Given the description of an element on the screen output the (x, y) to click on. 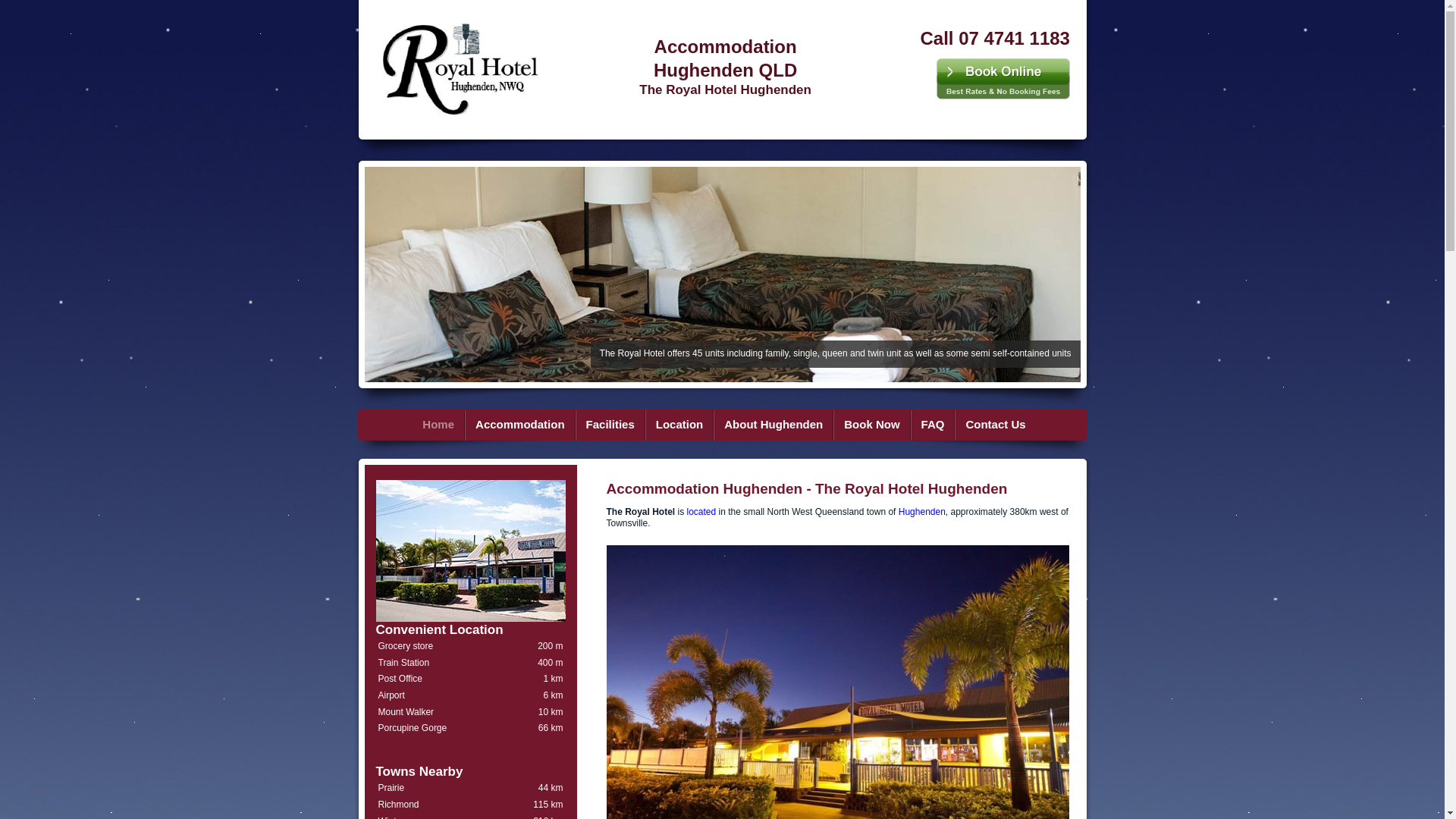
Accommodation Booking Options Element type: hover (644, 425)
located Element type: text (701, 511)
Accommodation Menu Element type: hover (722, 449)
Accommodation Booking Options Element type: hover (954, 425)
FAQ Element type: text (932, 423)
About Hughenden Element type: text (773, 423)
Accommodation Booking Options Element type: hover (713, 425)
Contact Us Element type: text (995, 423)
Home Element type: text (438, 423)
Hughenden Element type: text (921, 511)
Book Now Element type: text (871, 423)
Hughenden Accommodation - Royal Hotel Hughenden QLD Element type: hover (460, 66)
Accommodation Booking Options Element type: hover (833, 425)
Location Element type: text (679, 423)
Book Accommodation at The Royal Hotel Hughenden Online Element type: hover (1003, 78)
Facilities Element type: text (610, 423)
Accommodation Booking Options Element type: hover (575, 425)
Accommodation Element type: text (519, 423)
Accommodation Booking Options Element type: hover (910, 425)
Accommodation Booking Options Element type: hover (464, 425)
